Given the description of an element on the screen output the (x, y) to click on. 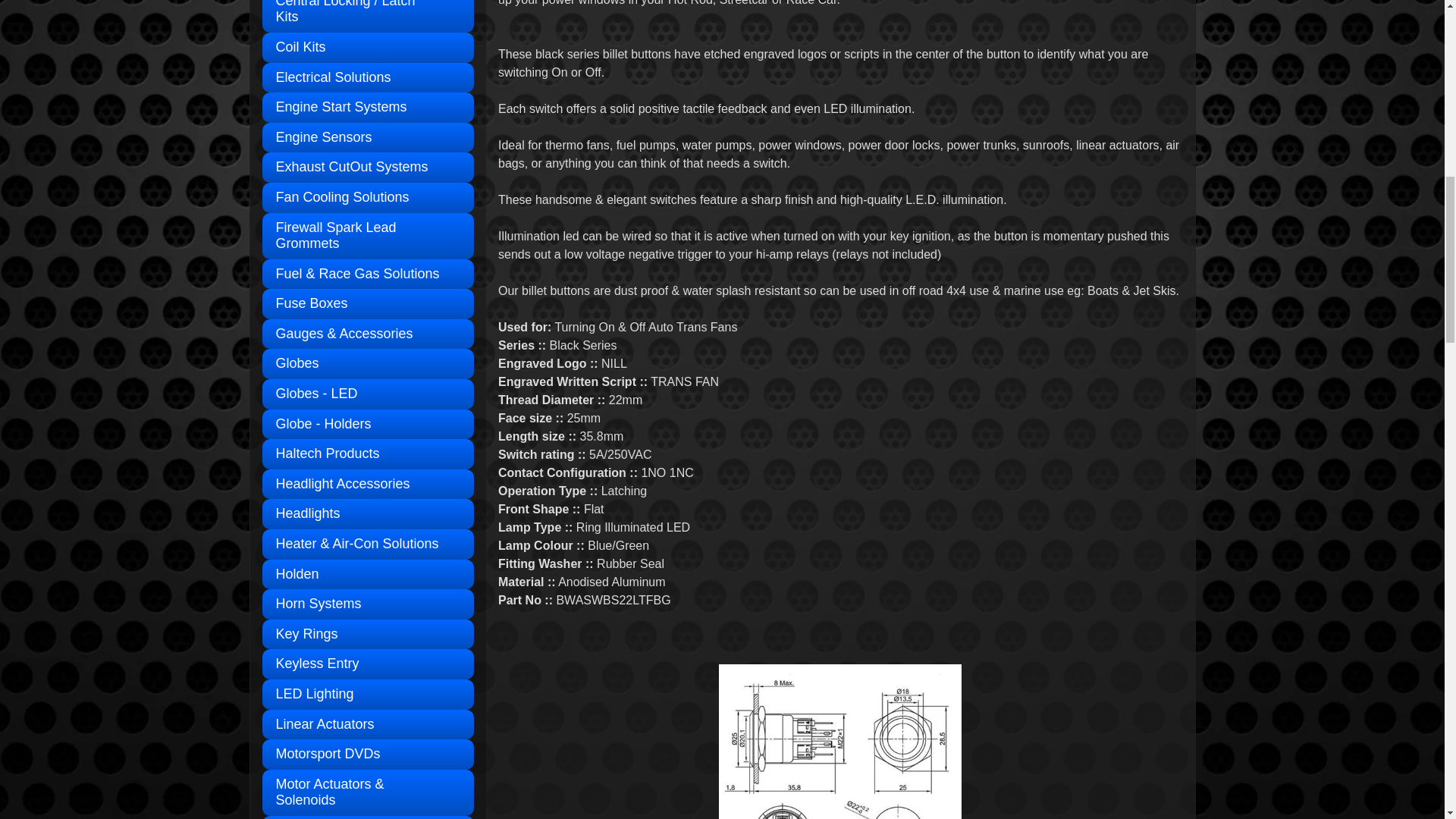
Coil Kits (368, 47)
